Given the description of an element on the screen output the (x, y) to click on. 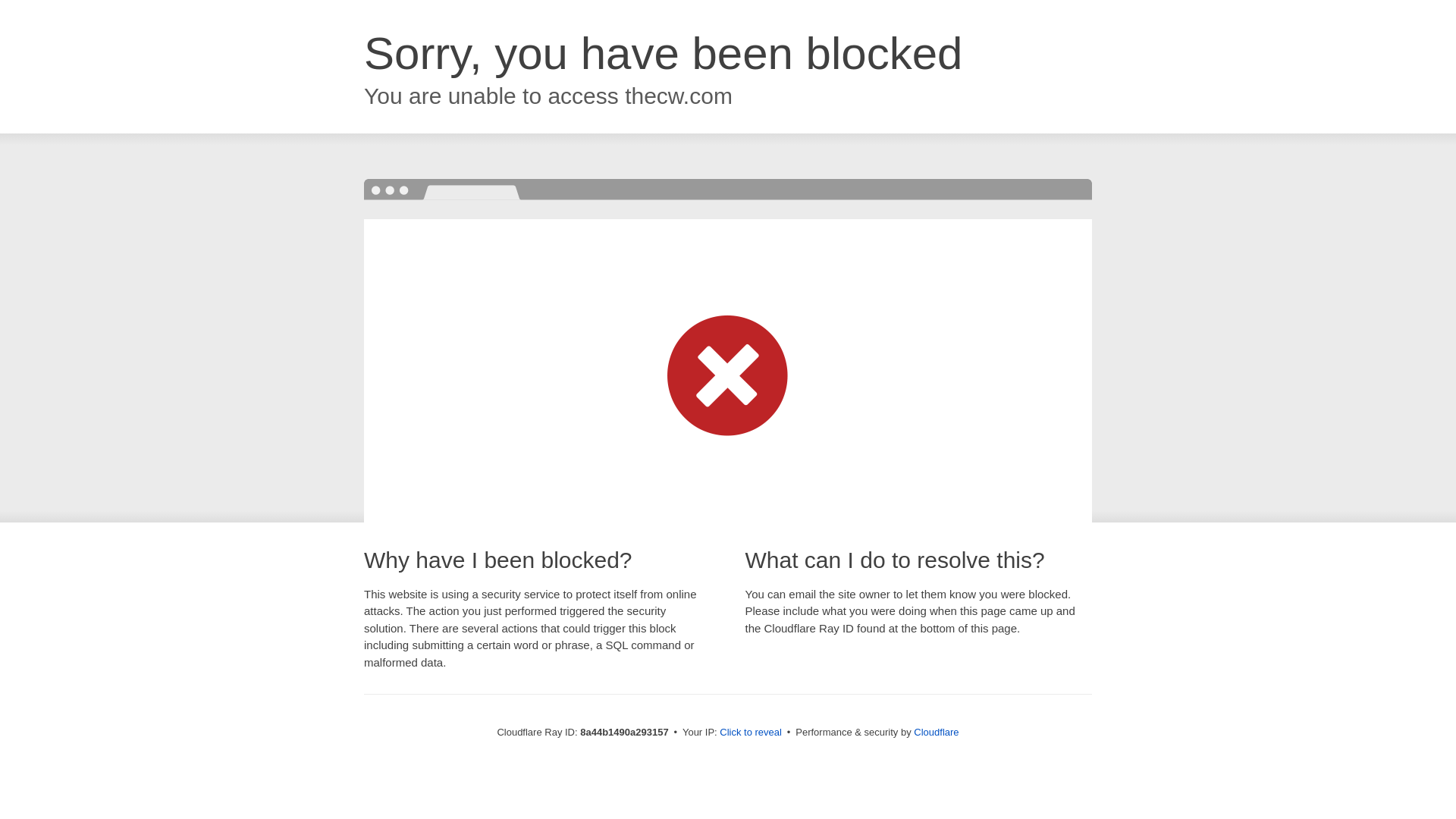
Click to reveal (750, 732)
Cloudflare (936, 731)
